Given the description of an element on the screen output the (x, y) to click on. 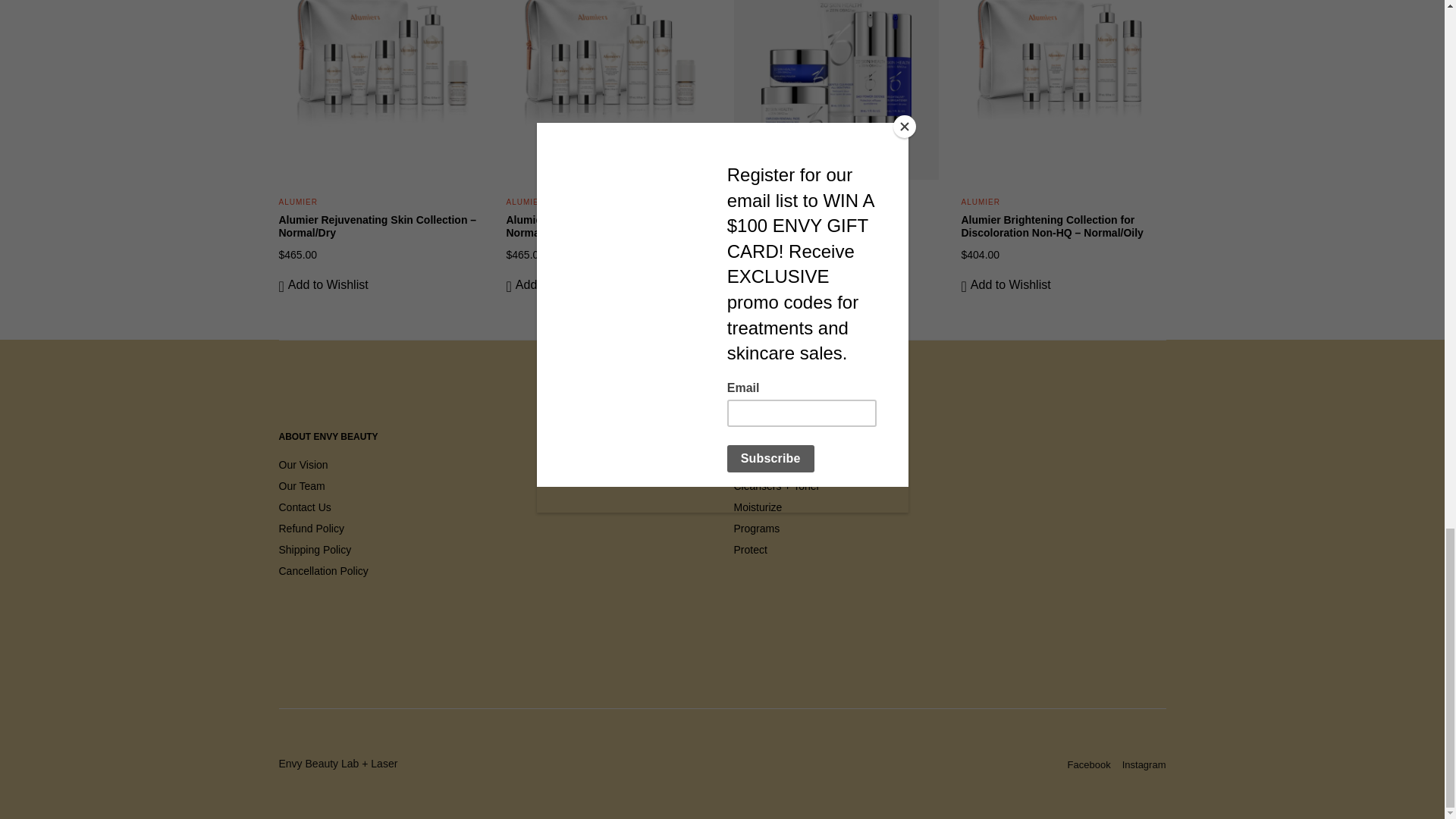
ZO Skin Brightening Program (808, 219)
